Given the description of an element on the screen output the (x, y) to click on. 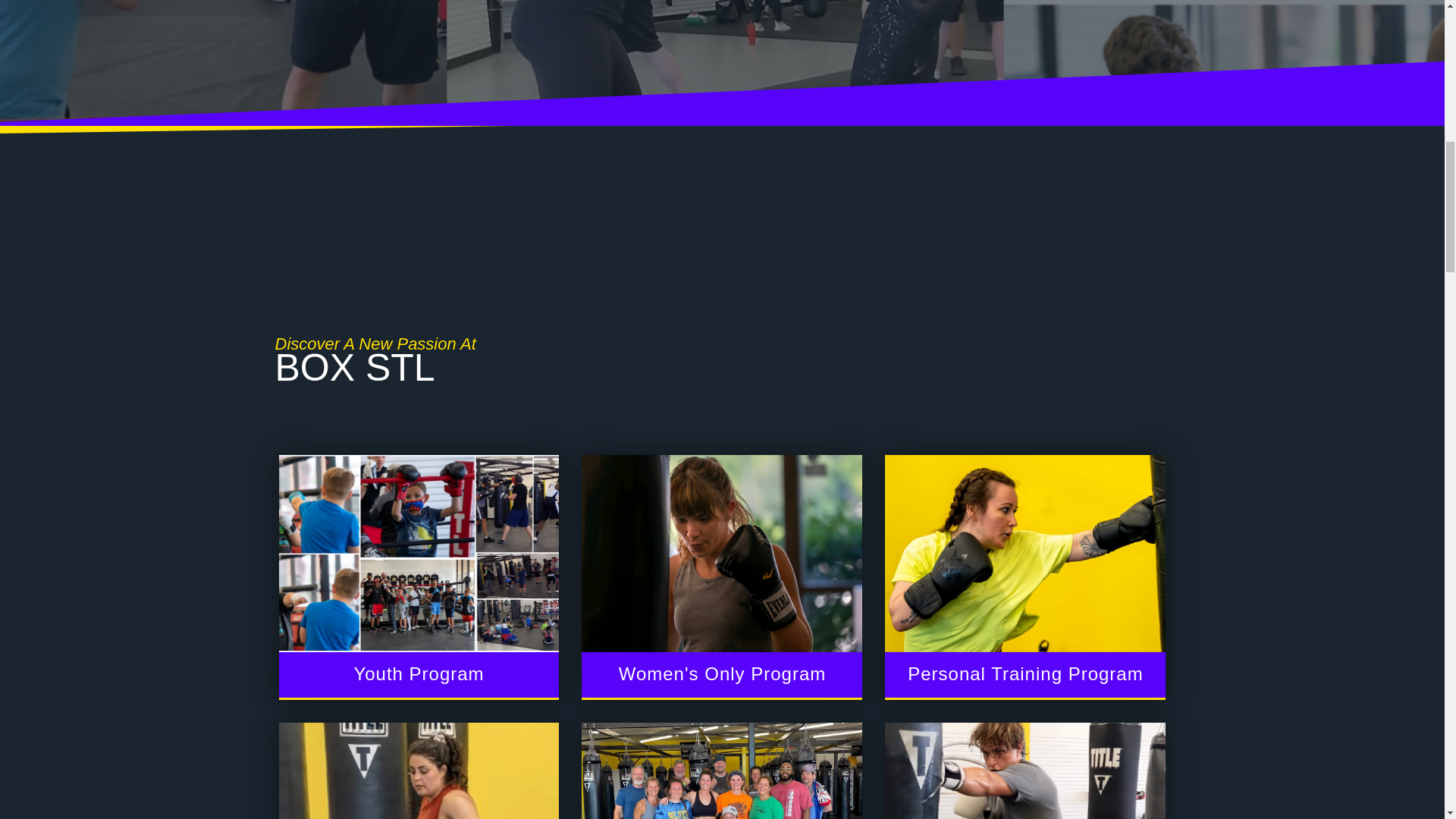
Pricing (1025, 770)
Women'S Only Program (720, 576)
Heavybag Program (419, 770)
Personal Training Program (1025, 576)
